Given the description of an element on the screen output the (x, y) to click on. 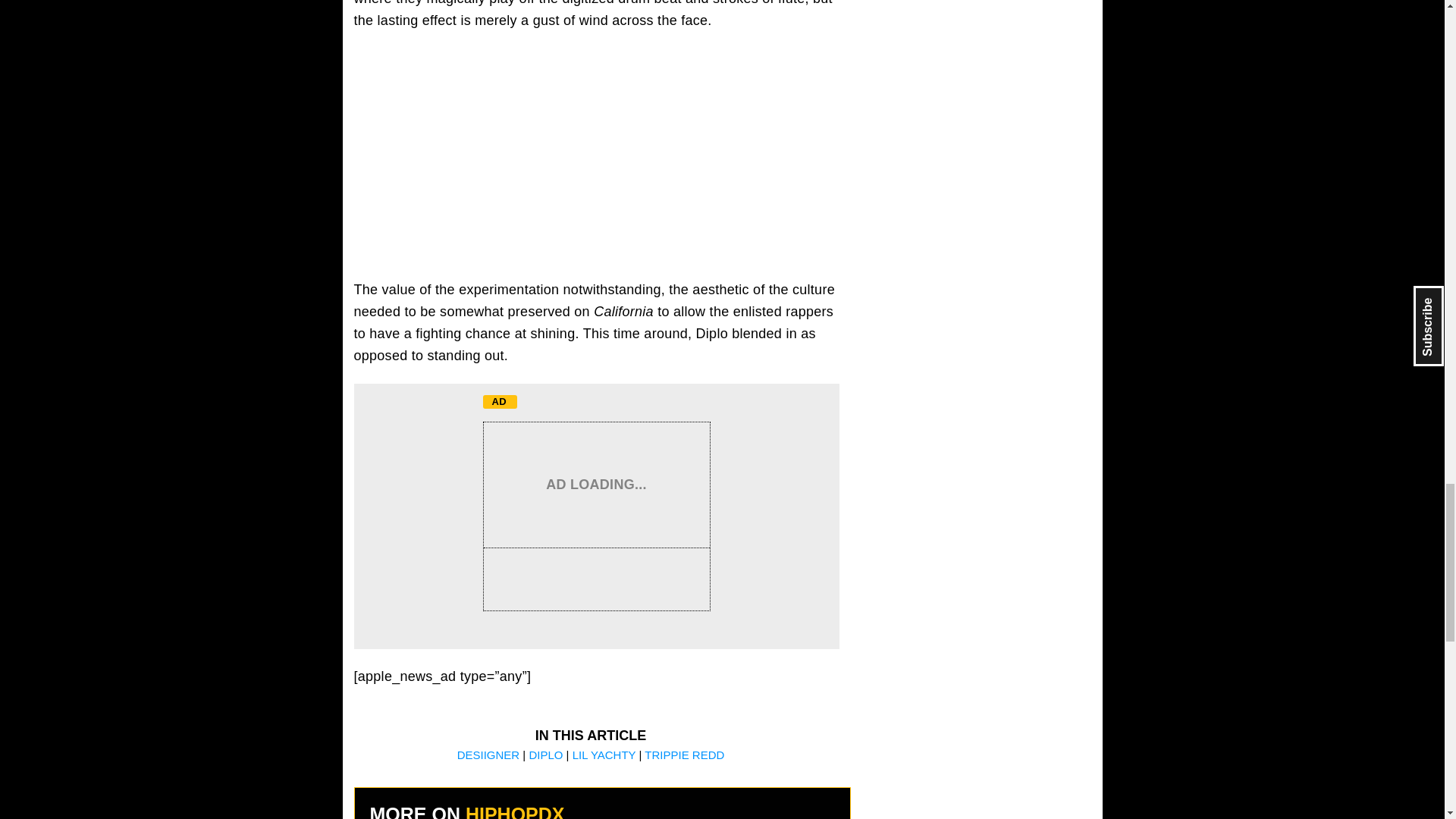
DESIIGNER (489, 754)
DIPLO (545, 754)
LIL YACHTY (604, 754)
